Given the description of an element on the screen output the (x, y) to click on. 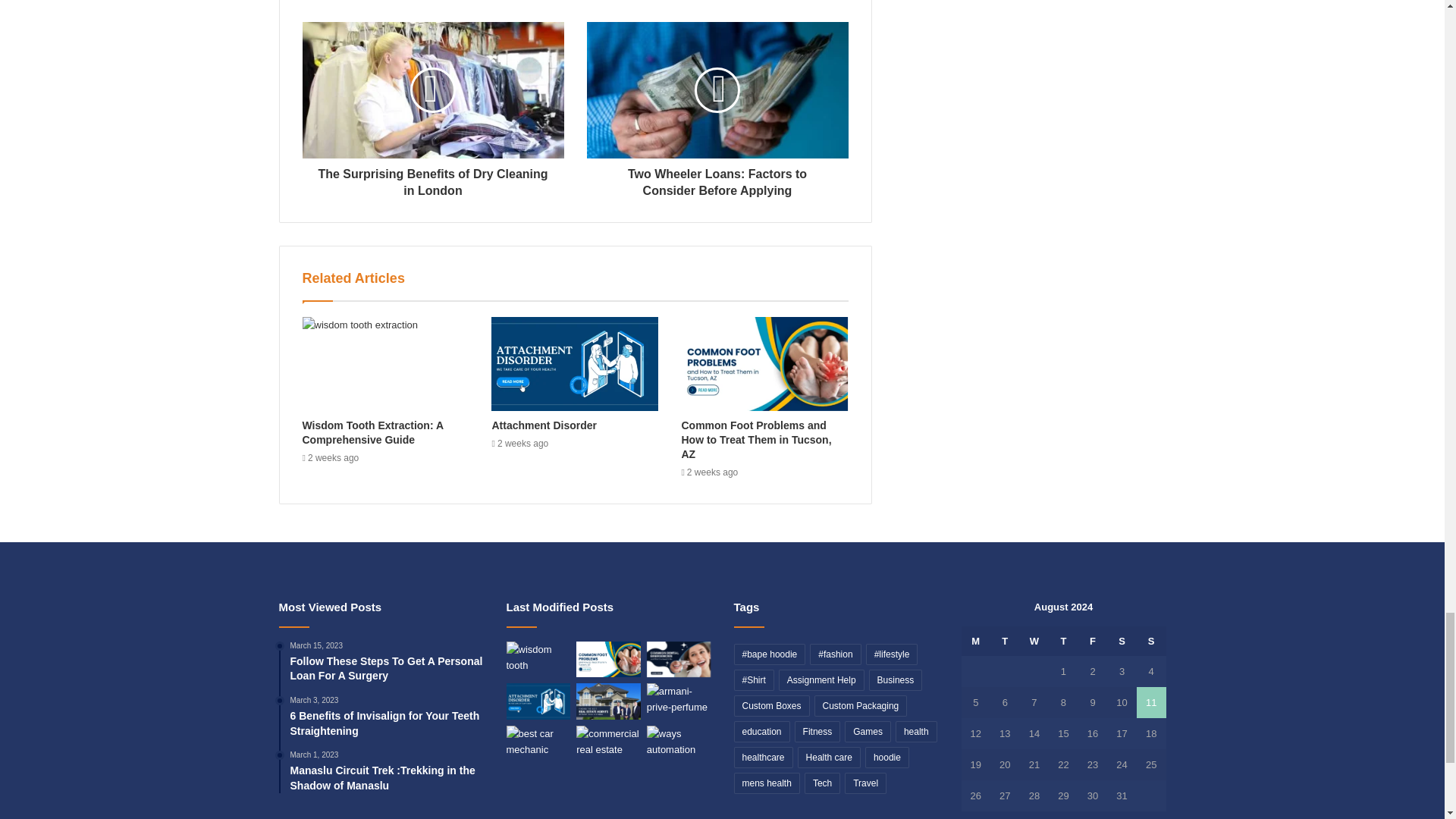
The Surprising Benefits of Dry Cleaning in London (432, 178)
Tuesday (1005, 641)
Monday (975, 641)
Wednesday (1034, 641)
